Given the description of an element on the screen output the (x, y) to click on. 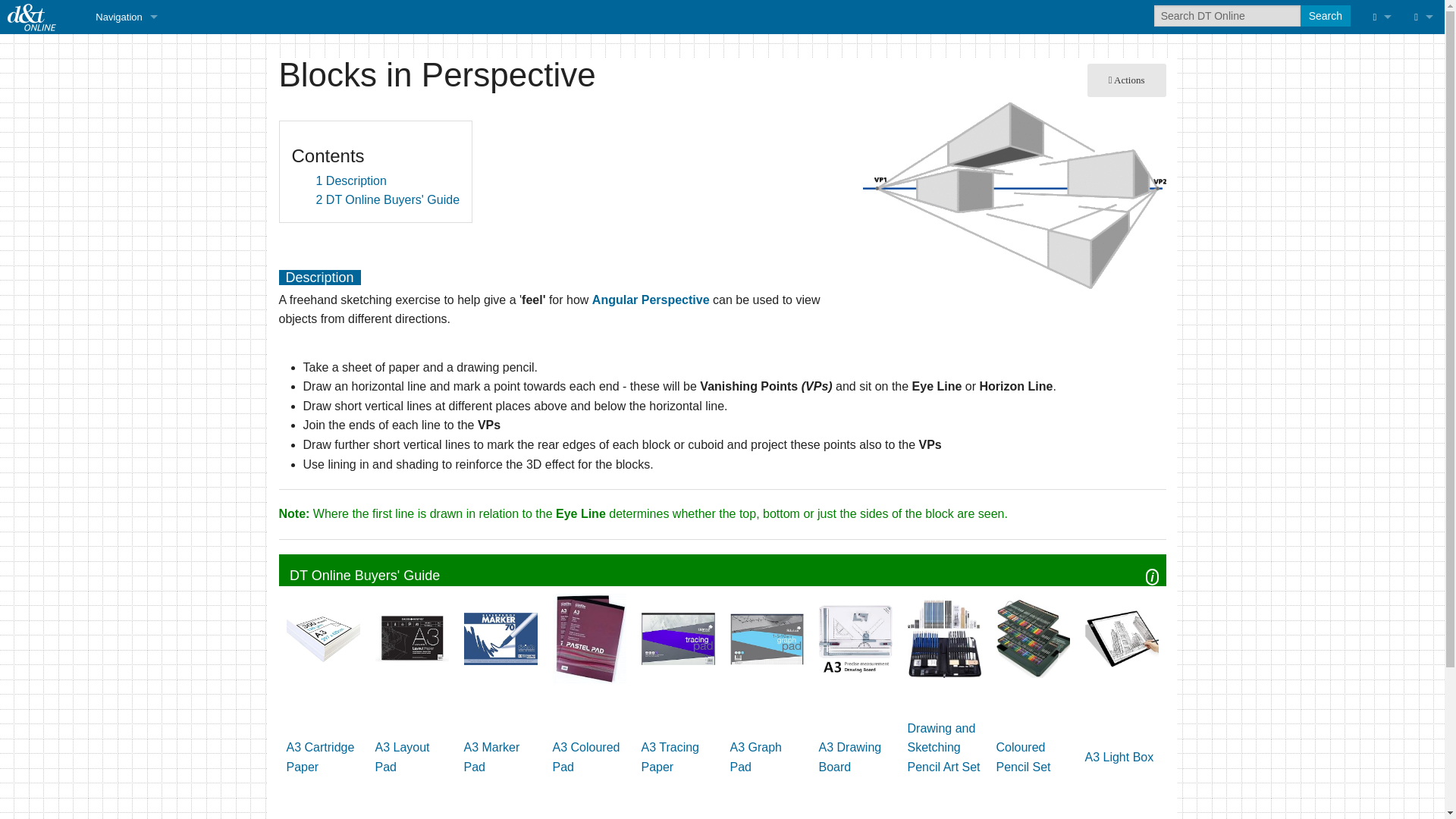
Angular Perspective (651, 299)
List files (126, 187)
More information about this page (1382, 221)
2 DT Online Buyers' Guide (387, 199)
 Actions (1126, 80)
Printable version (1382, 153)
Permanent link to this revision of this page (1382, 187)
Navigation (126, 17)
Permanent link (1382, 187)
Main page (126, 50)
Special pages (1382, 119)
Help (126, 153)
Special:RecentChanges (1382, 255)
Random page (126, 119)
Search (1324, 15)
